Given the description of an element on the screen output the (x, y) to click on. 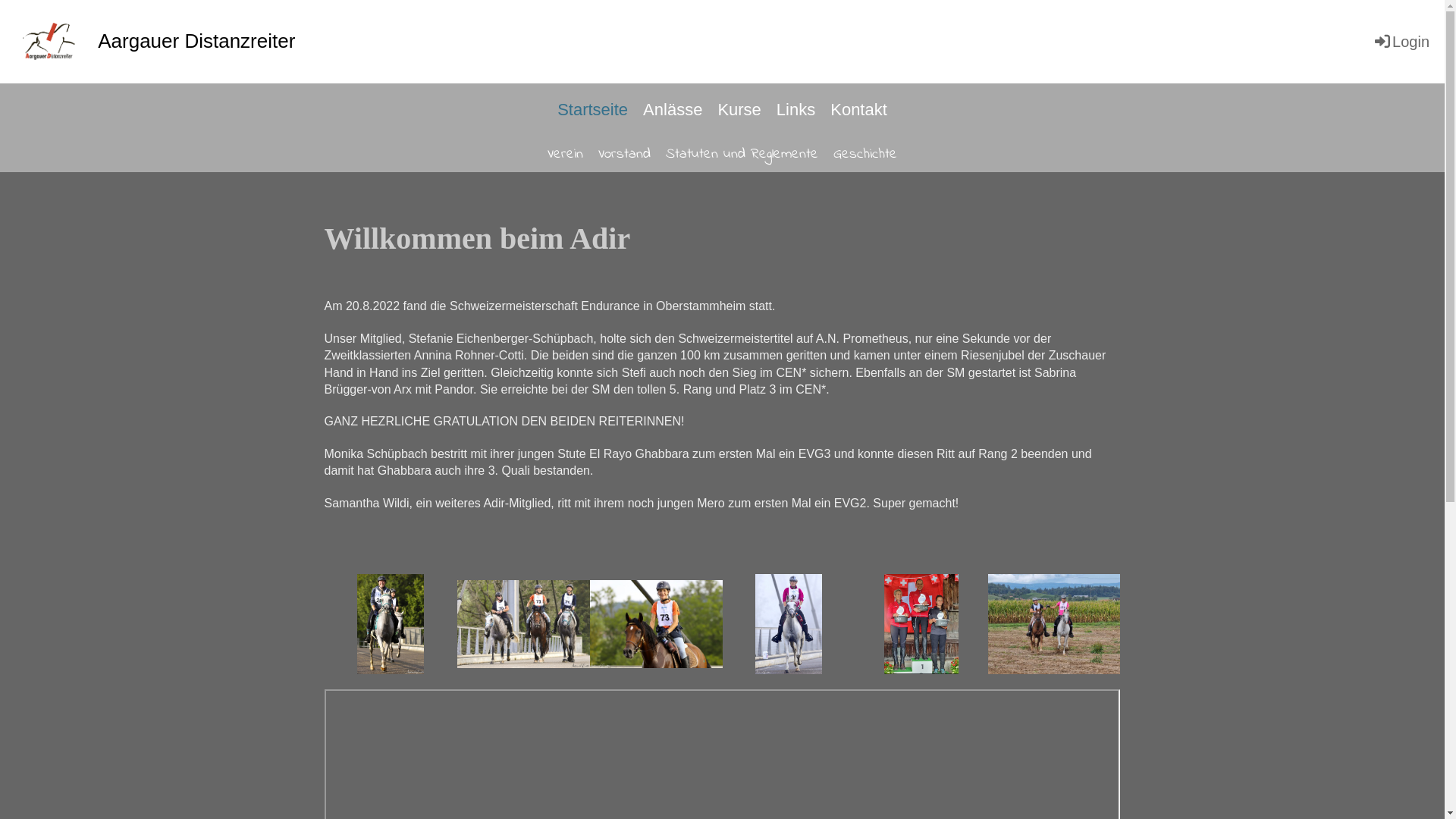
Geschichte Element type: text (864, 154)
Kontakt Element type: text (858, 110)
Aargauer Distanzreiter Element type: text (195, 40)
Kurse Element type: text (738, 110)
Links Element type: text (795, 110)
Verein Element type: text (564, 154)
Vorstand Element type: text (624, 154)
Login Element type: text (1400, 41)
Statuten und Reglemente Element type: text (741, 154)
Startseite Element type: text (592, 110)
